Given the description of an element on the screen output the (x, y) to click on. 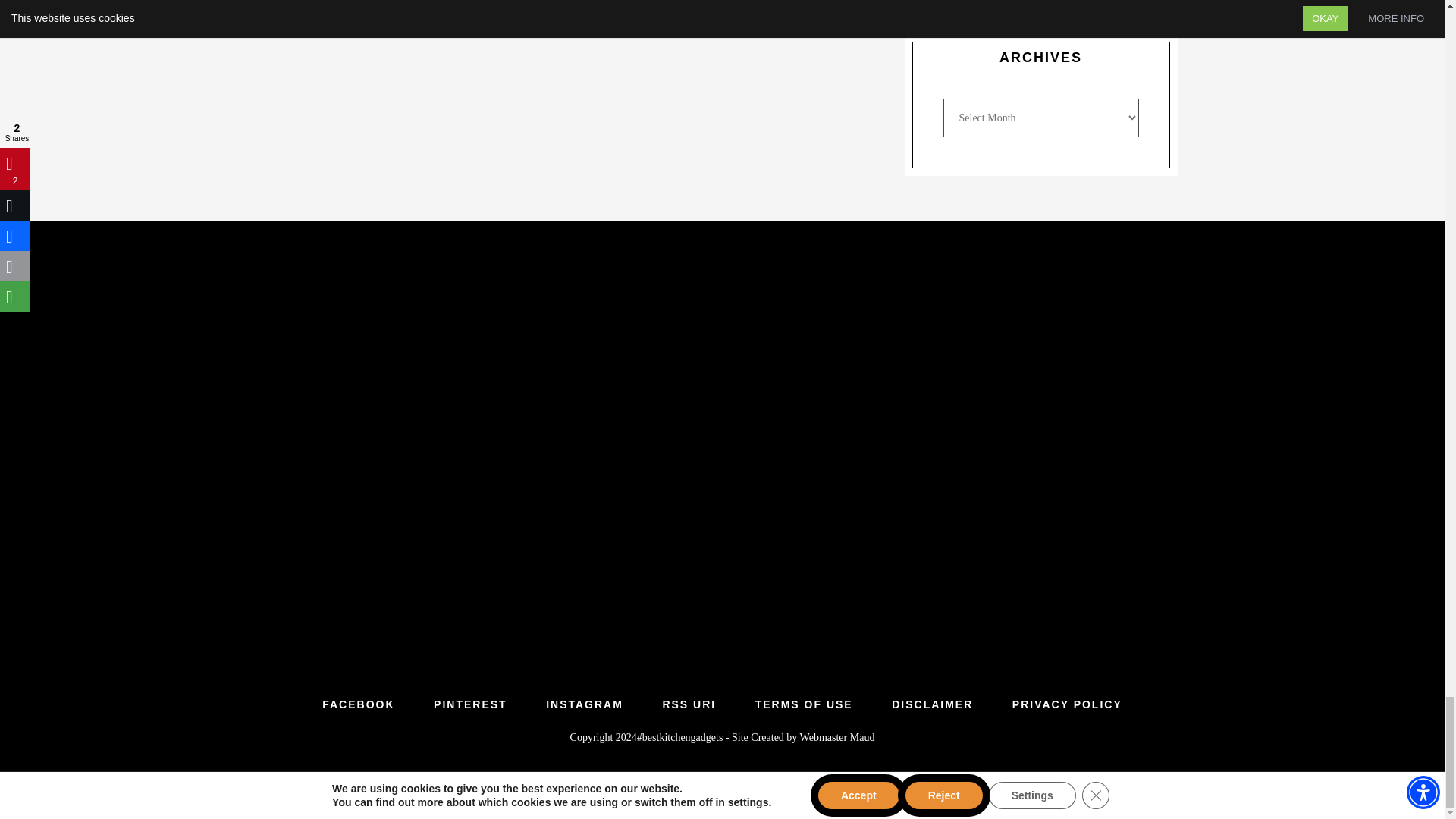
PINTEREST (469, 704)
FACEBOOK (358, 704)
